Given the description of an element on the screen output the (x, y) to click on. 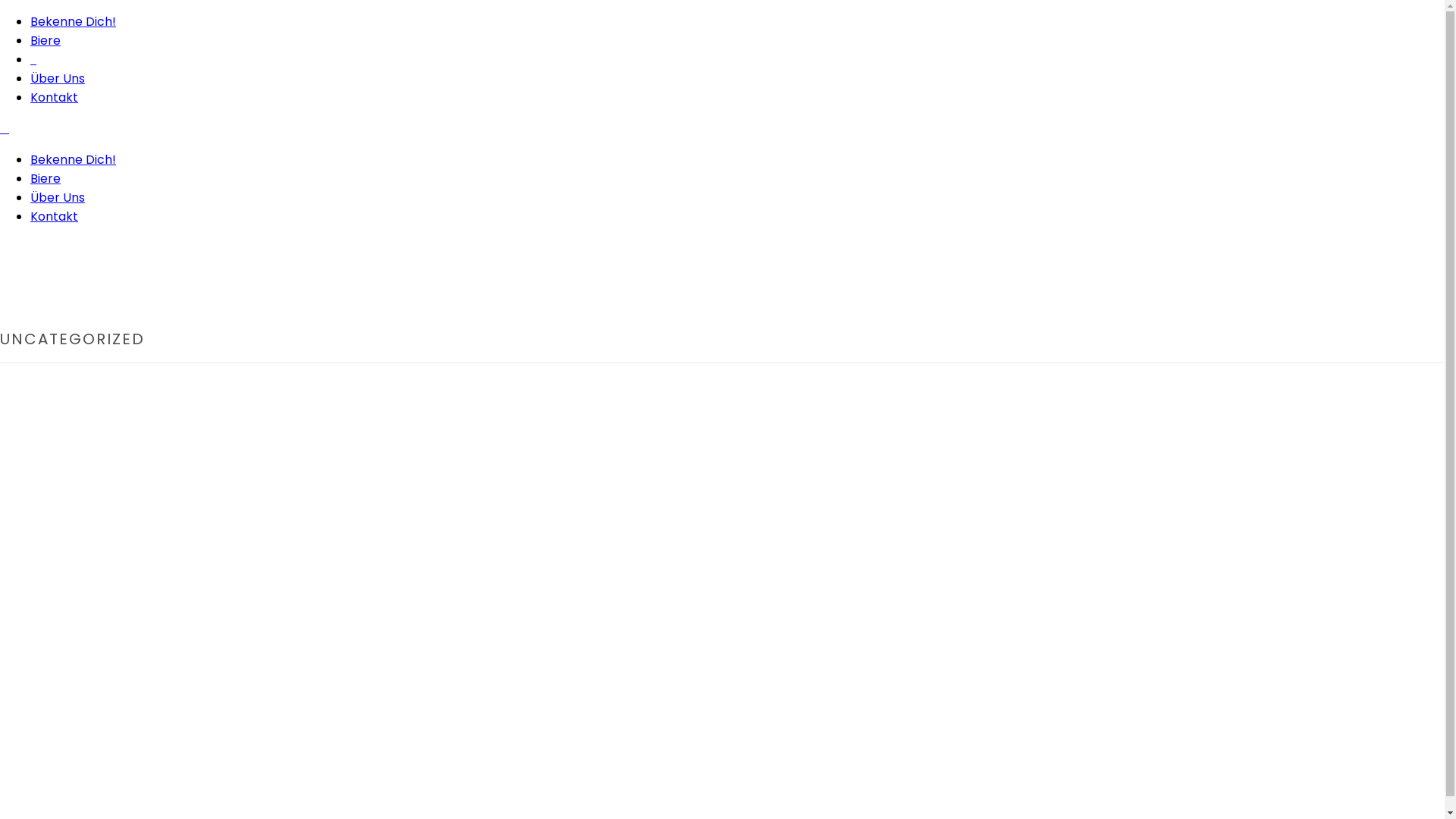
Kontakt Element type: text (54, 97)
Kontakt Element type: text (54, 216)
Bekenne Dich! Element type: text (73, 159)
Bitterspiel Element type: hover (33, 59)
Biere Element type: text (45, 178)
Biere Element type: text (45, 40)
Bitterspiel Element type: hover (4, 128)
Bekenne Dich! Element type: text (73, 21)
